Given the description of an element on the screen output the (x, y) to click on. 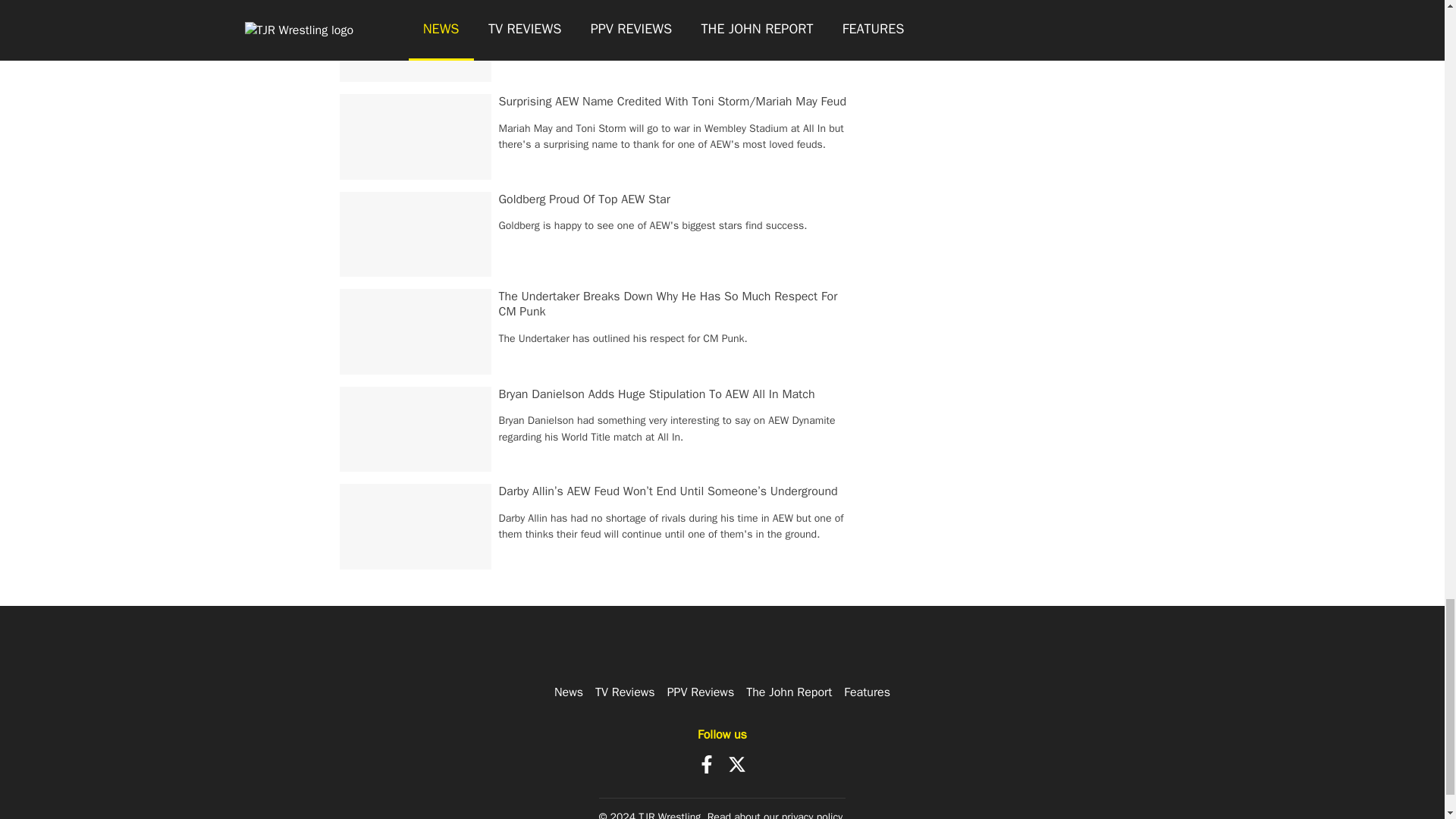
Facebook (706, 764)
X (736, 764)
Bryan Danielson Adds Huge Stipulation To AEW All In Match (657, 394)
Goldberg Proud Of Top AEW Star (584, 199)
